Given the description of an element on the screen output the (x, y) to click on. 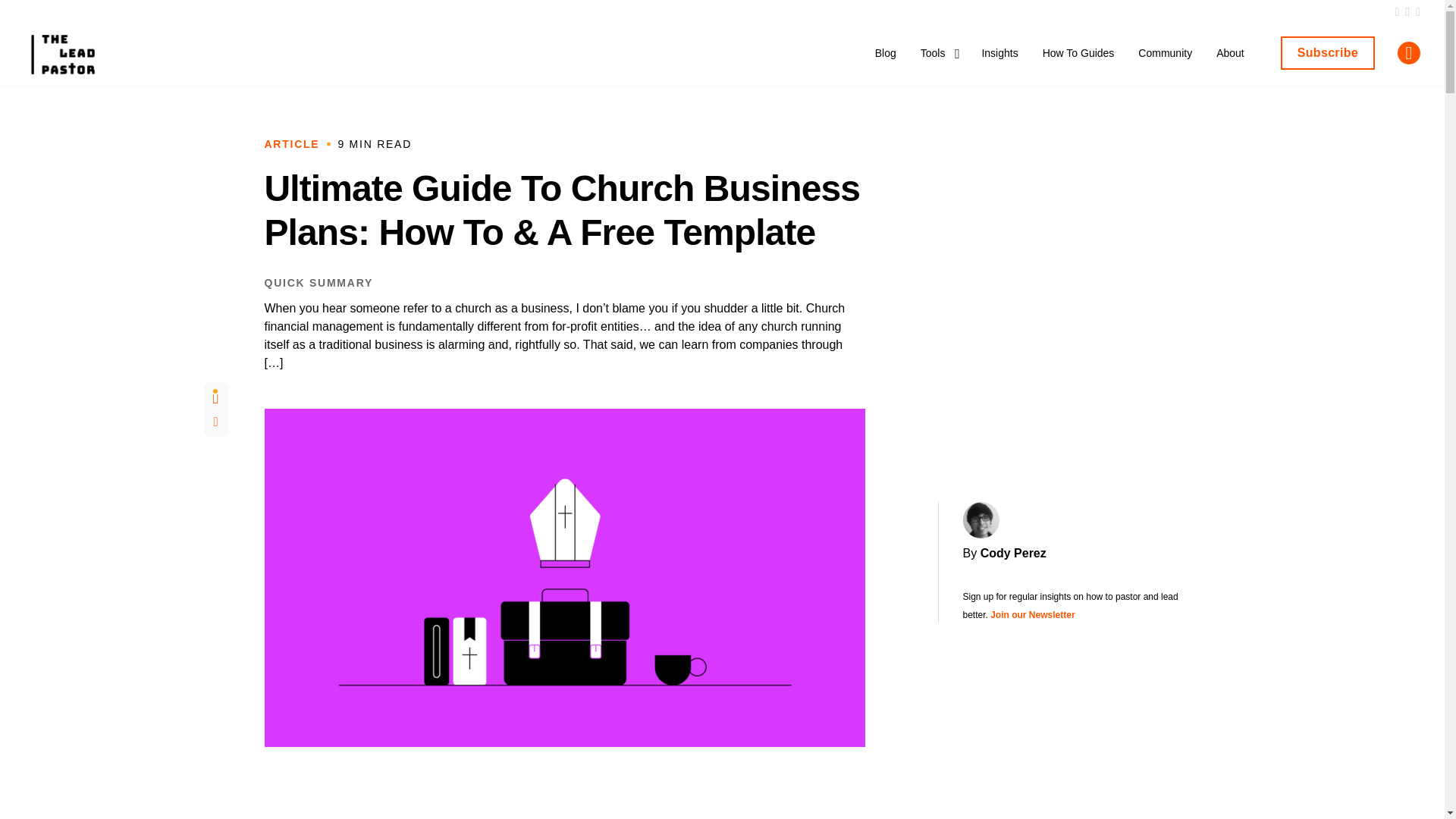
Subscribe (1327, 52)
ARTICLE (290, 143)
How To Guides (1078, 65)
Join our Newsletter (1031, 614)
The Lead Pastor (59, 55)
Community (1165, 65)
Insights (999, 65)
